Given the description of an element on the screen output the (x, y) to click on. 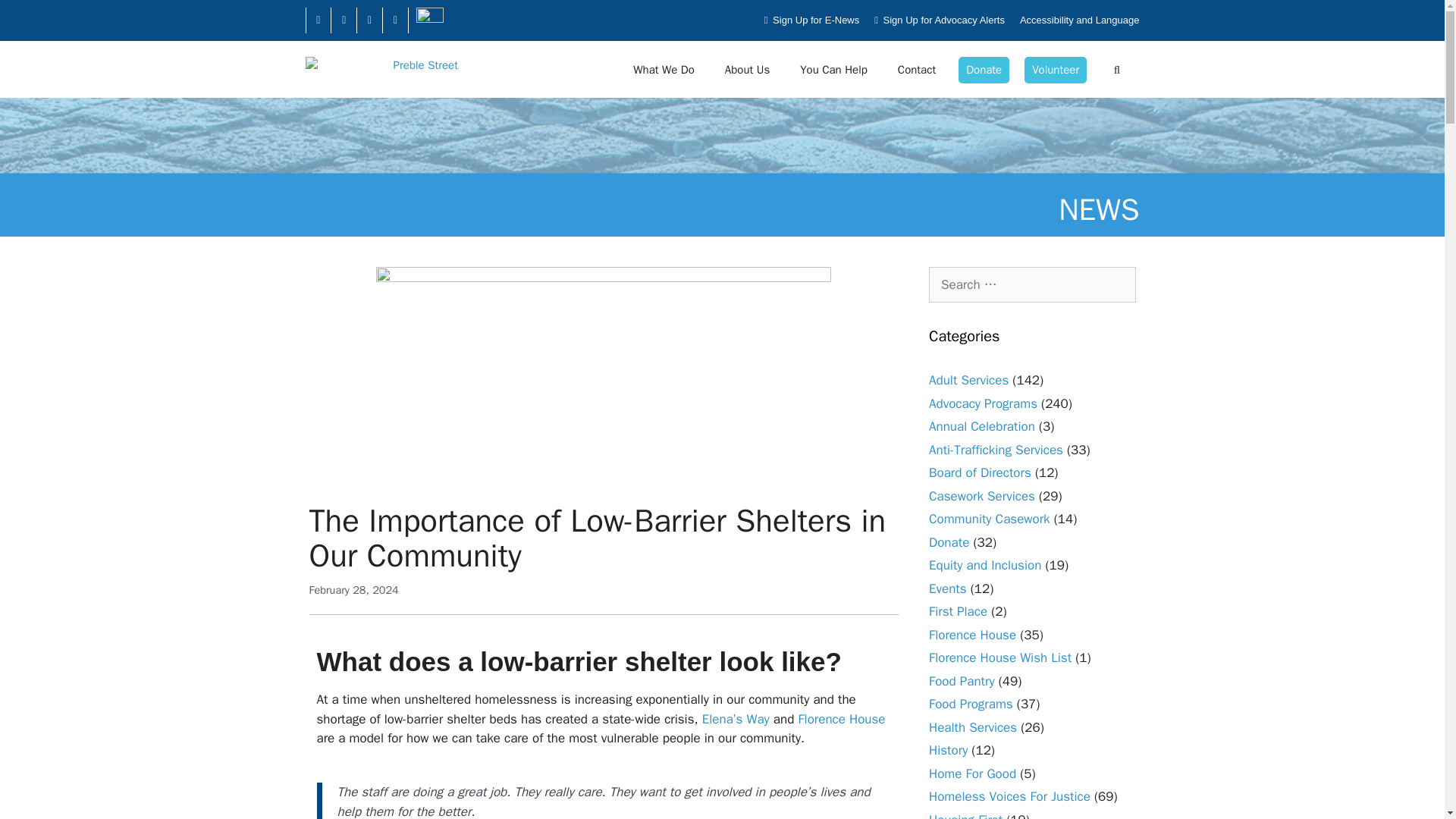
Facebook (318, 20)
Sign Up for E-News (811, 19)
Preble Street (380, 69)
Search for: (1031, 284)
About Us (747, 69)
Instagram (394, 20)
Preble Street (384, 69)
Sign Up for Advocacy Alerts (939, 19)
Twitter (343, 20)
YouTube (368, 20)
